Given the description of an element on the screen output the (x, y) to click on. 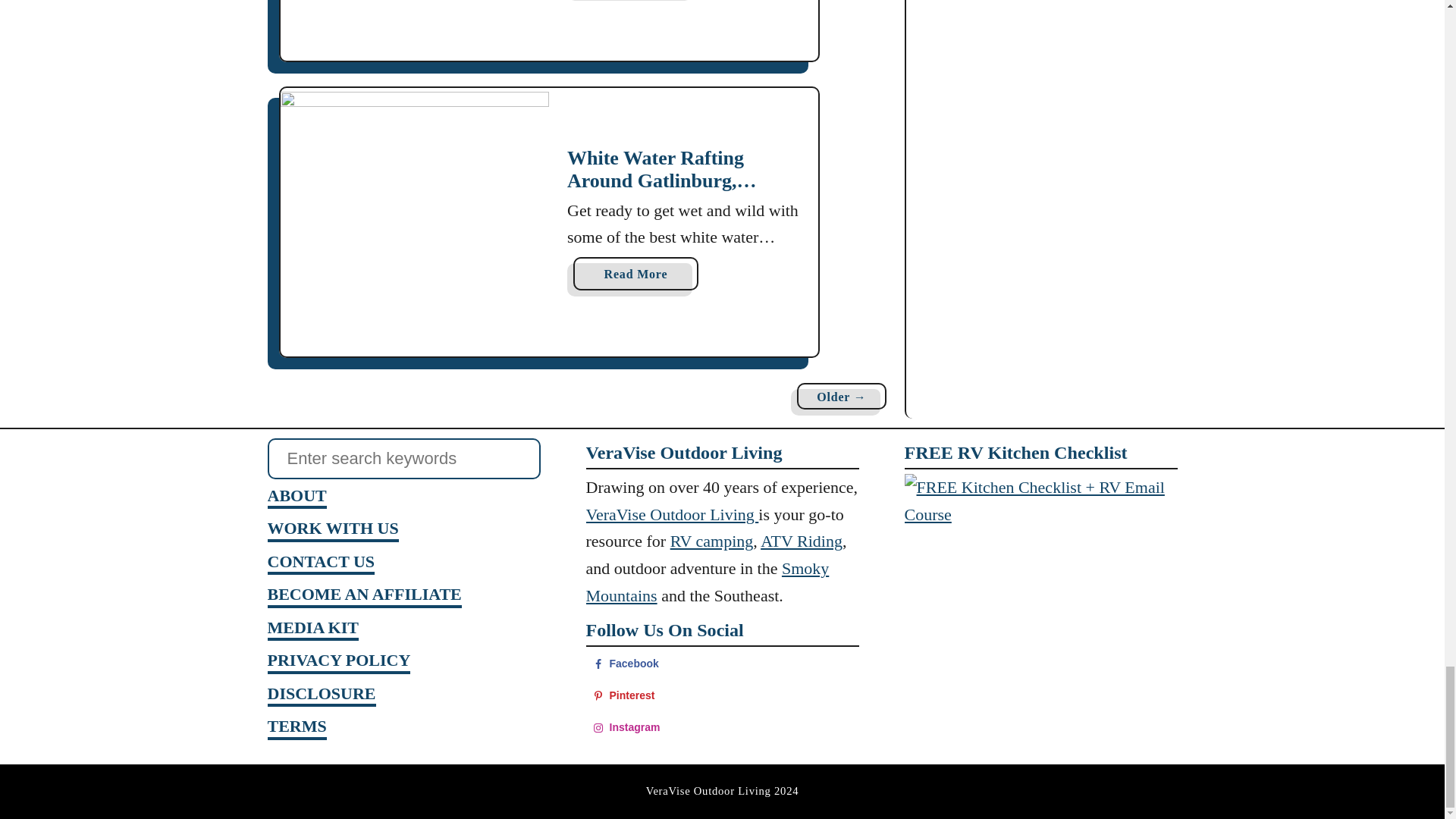
The Best Time To Visit Gatlinburg, TN (415, 30)
White Water Rafting Around Gatlinburg, Tennessee (415, 222)
